Given the description of an element on the screen output the (x, y) to click on. 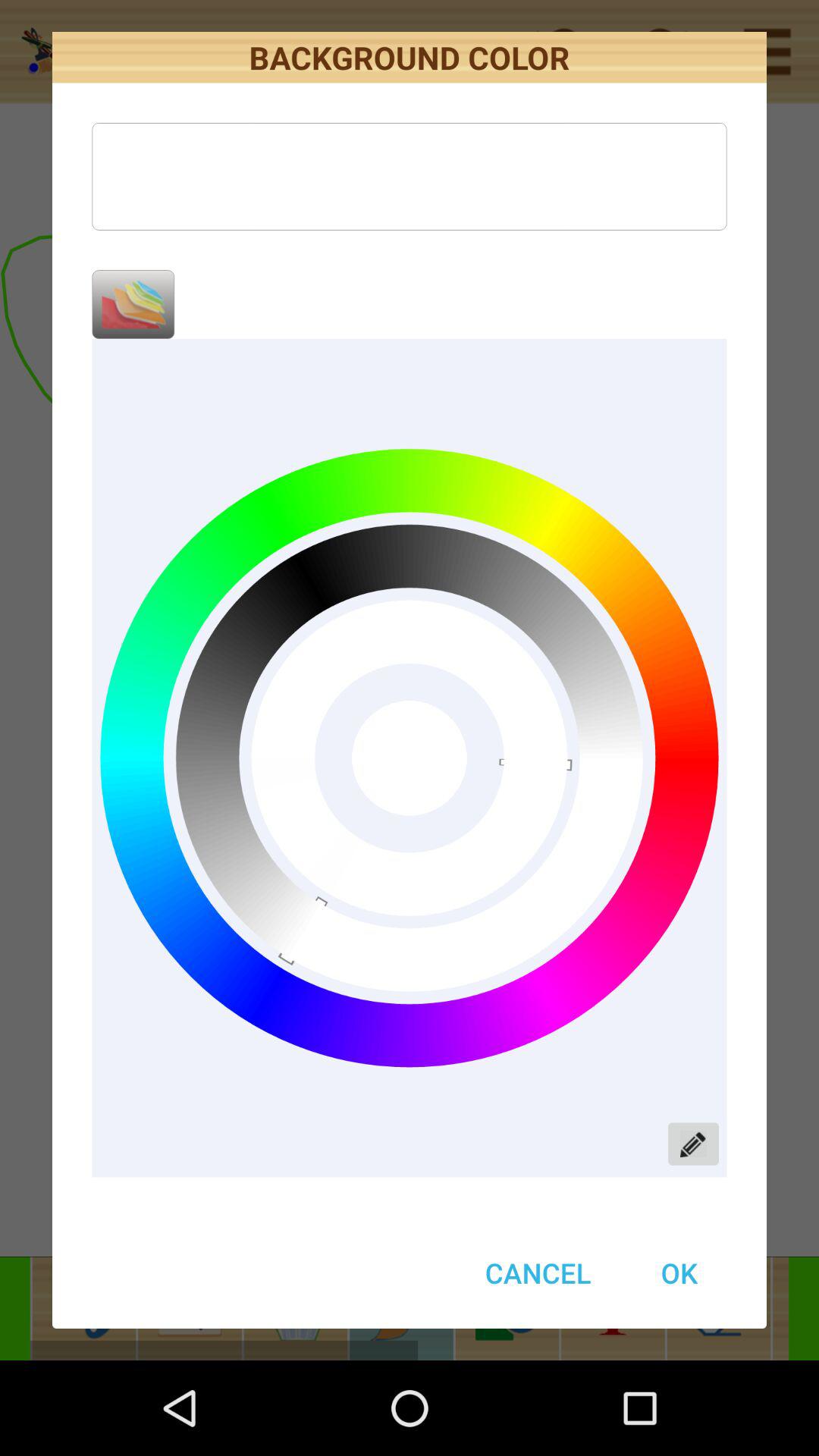
launch icon above ok item (693, 1143)
